Given the description of an element on the screen output the (x, y) to click on. 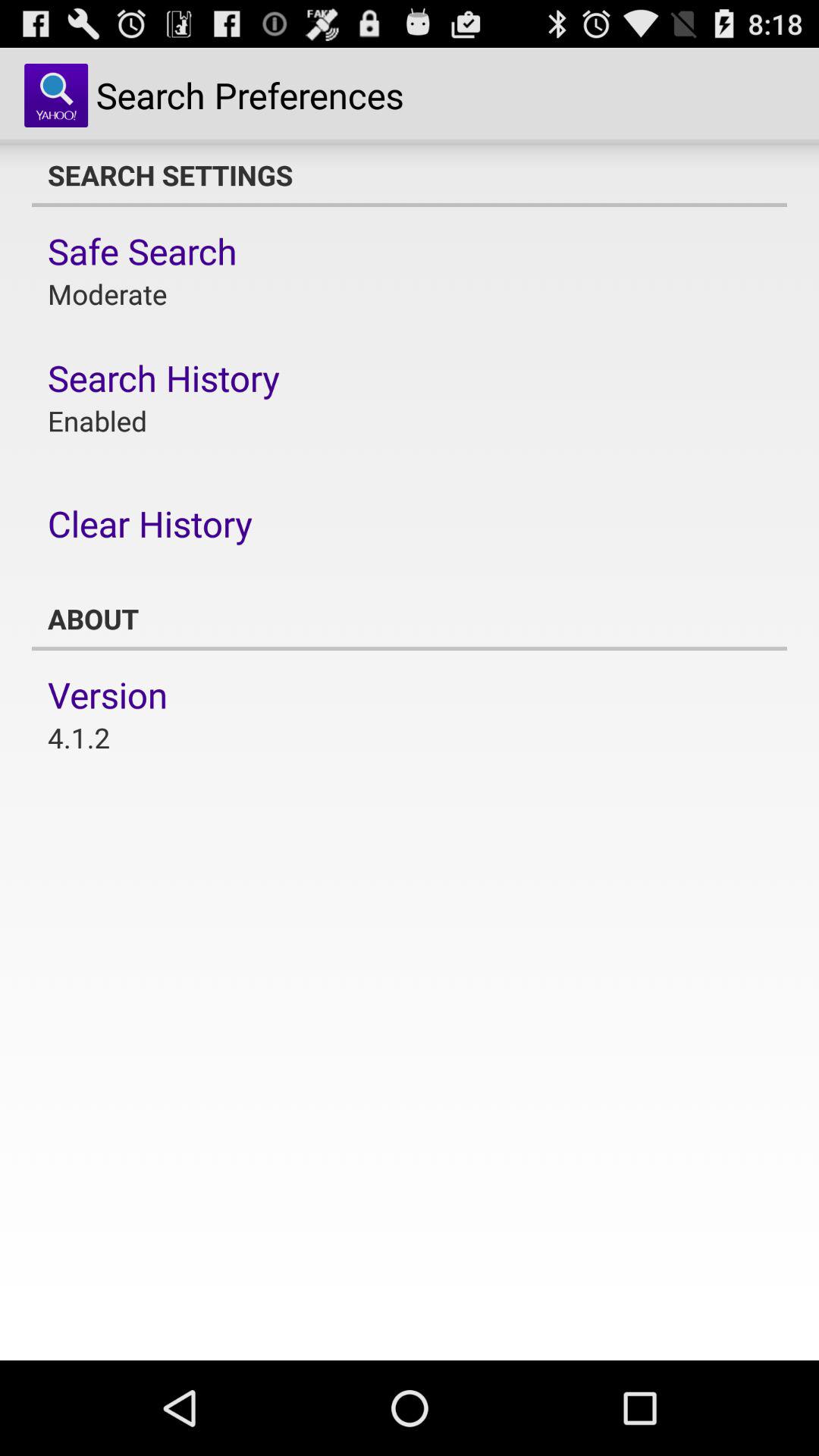
choose the item below safe search icon (107, 293)
